Given the description of an element on the screen output the (x, y) to click on. 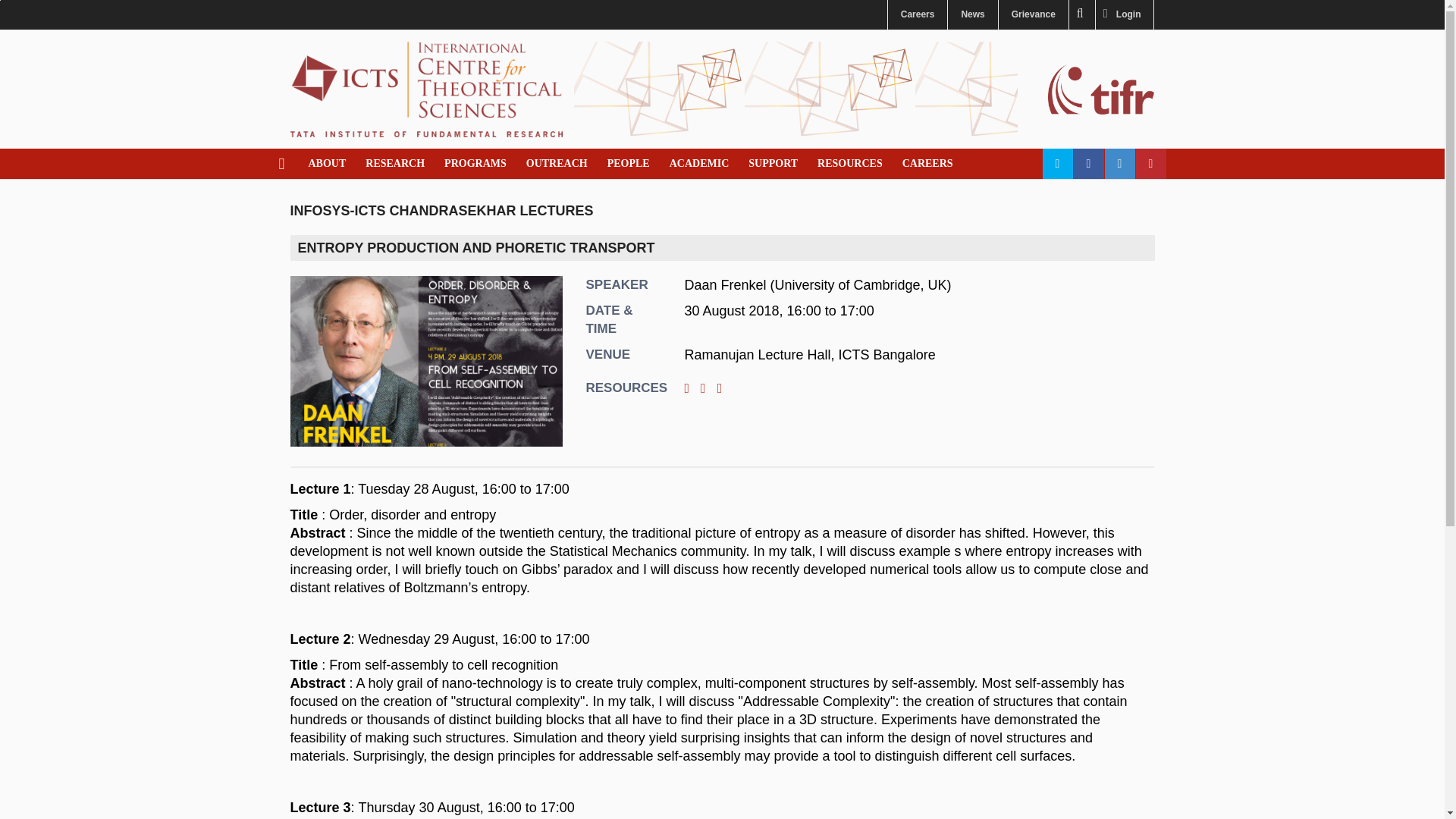
Home (425, 88)
